Given the description of an element on the screen output the (x, y) to click on. 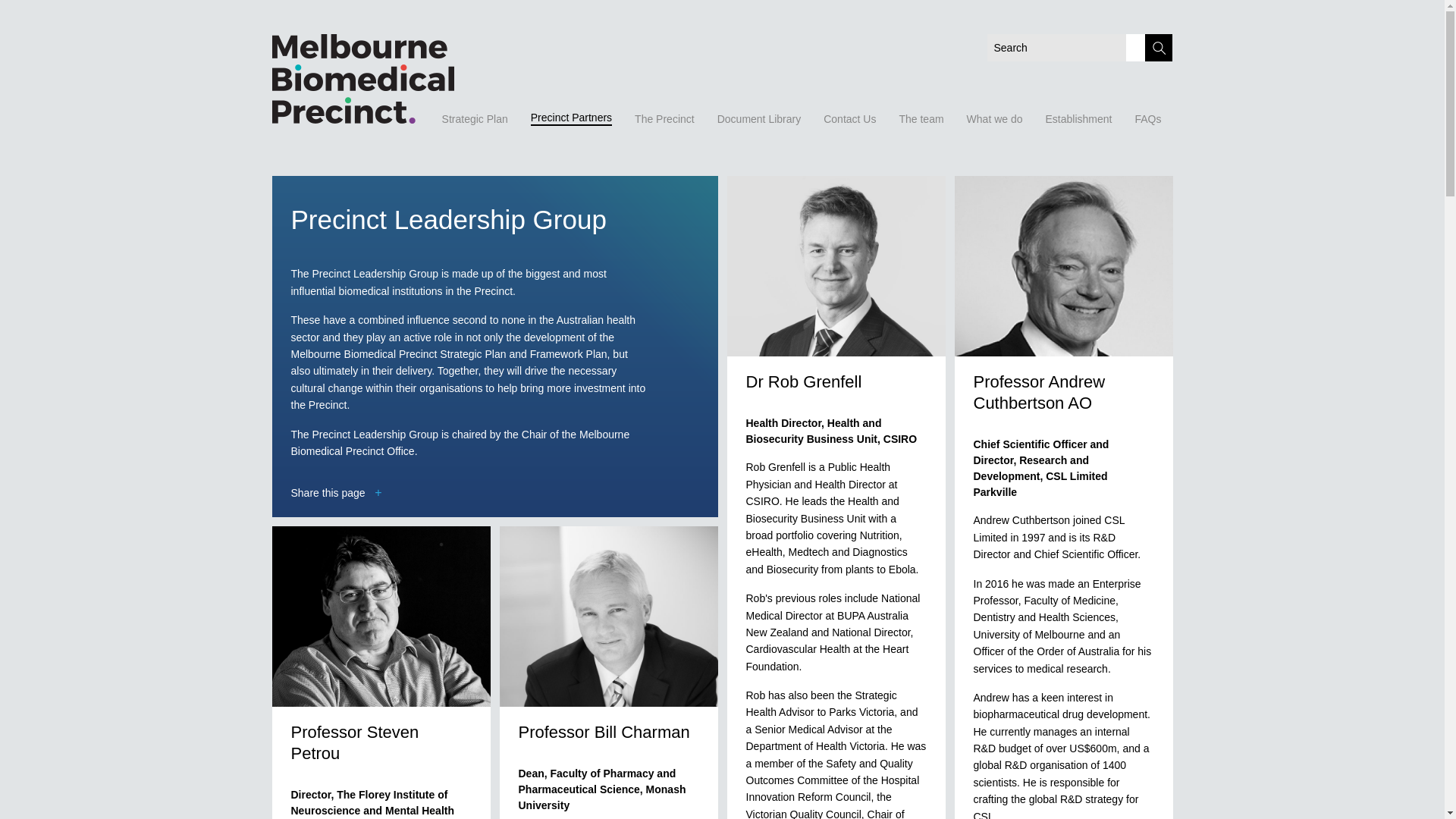
Home (341, 78)
FAQs (1147, 118)
Contact Us (849, 118)
Strategic Plan (474, 118)
The Precinct (664, 118)
The team (920, 118)
Establishment (1078, 118)
Document Library (759, 118)
What we do (994, 118)
